Given the description of an element on the screen output the (x, y) to click on. 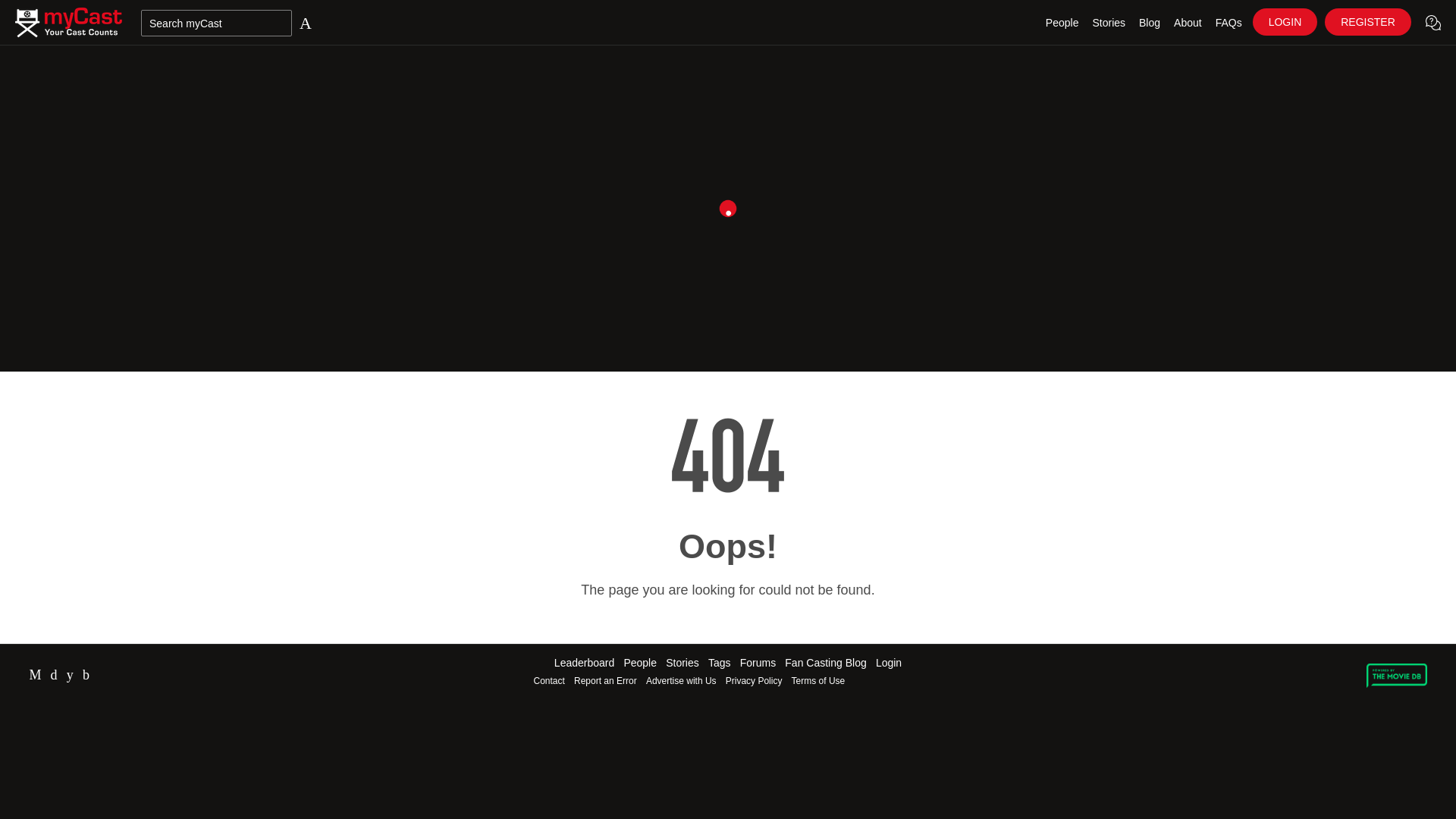
LOGIN (1284, 22)
About (1187, 22)
FAQs (1228, 22)
People (1062, 22)
Stories (1108, 22)
